Given the description of an element on the screen output the (x, y) to click on. 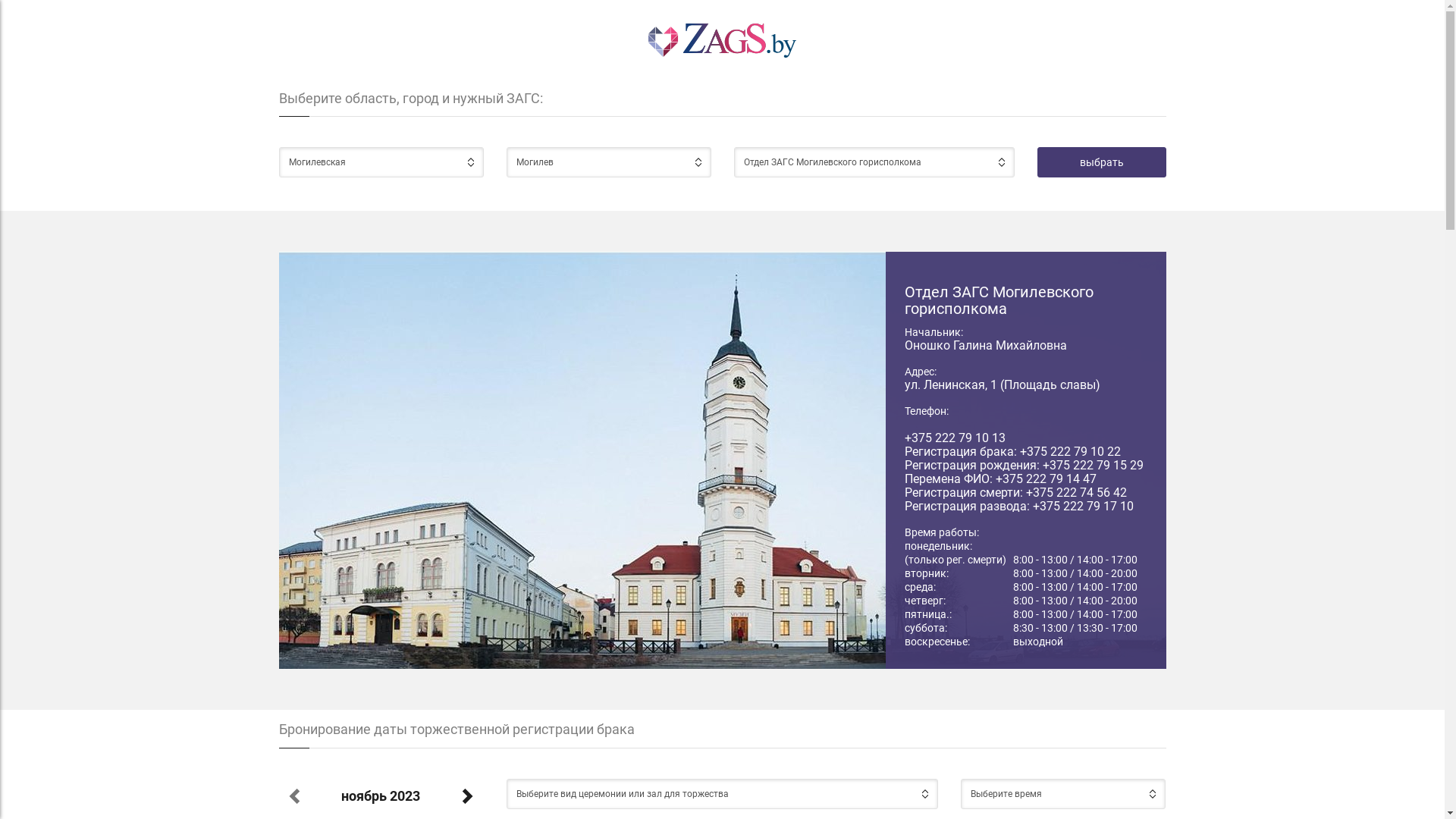
Next Month Element type: hover (466, 795)
Previous Month Element type: hover (295, 795)
